Given the description of an element on the screen output the (x, y) to click on. 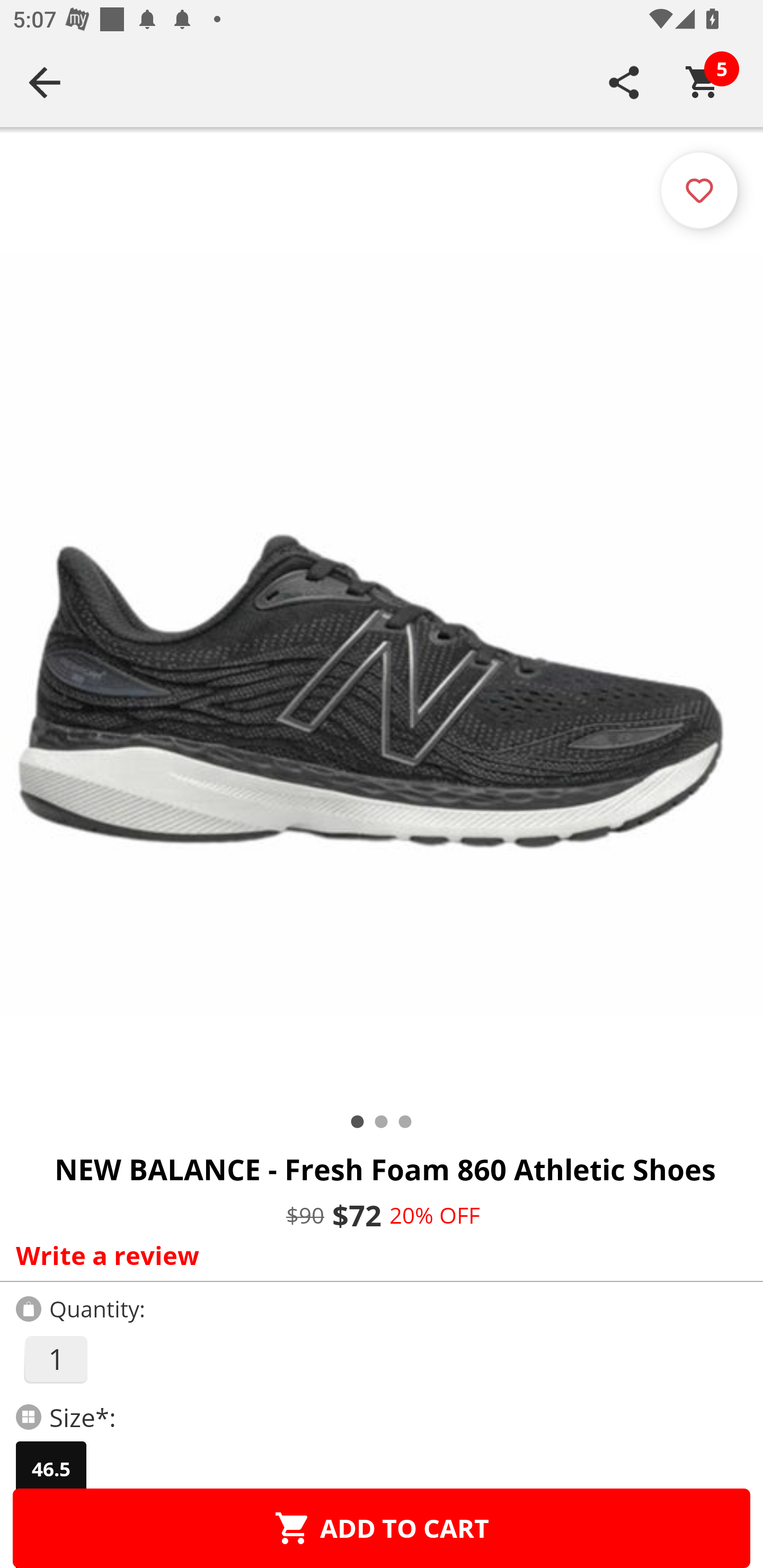
Navigate up (44, 82)
SHARE (623, 82)
Cart (703, 81)
Write a review (377, 1255)
1 (55, 1358)
46.5 (51, 1468)
ADD TO CART (381, 1528)
